Given the description of an element on the screen output the (x, y) to click on. 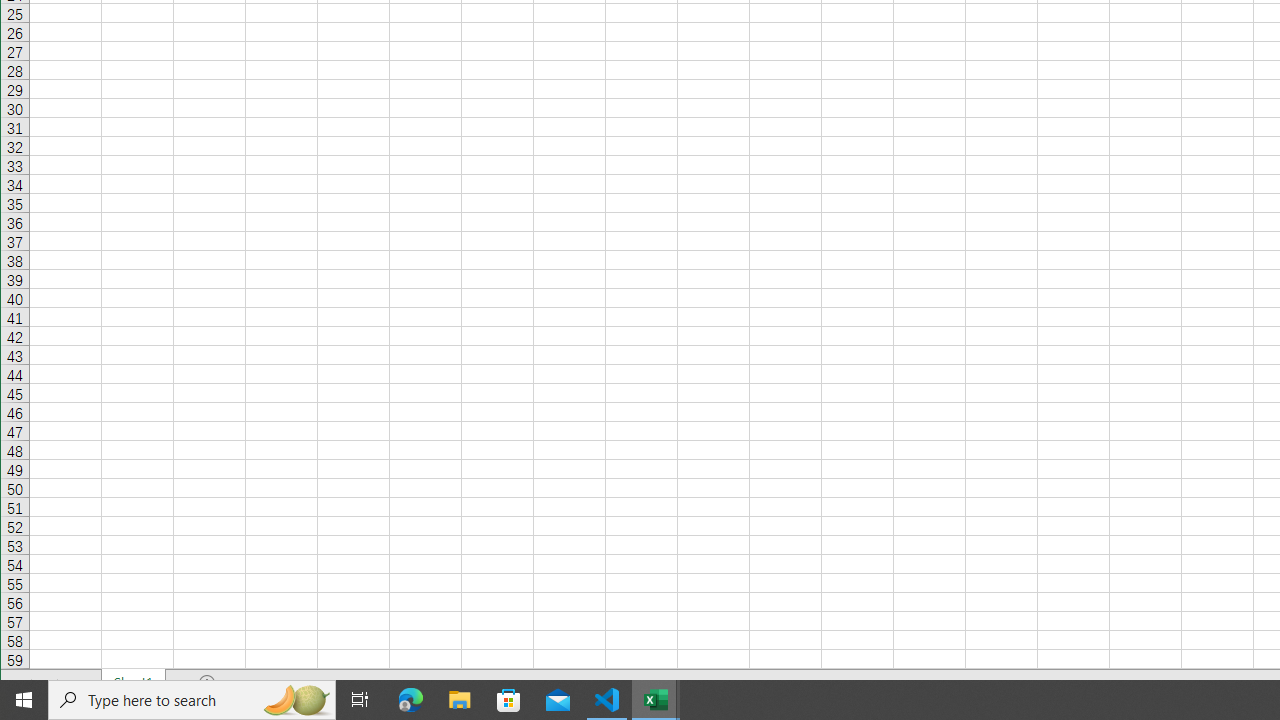
Scroll Left (30, 682)
Accessibility Checker Accessibility: Good to go (135, 708)
Add Sheet (207, 682)
Sheet1 (133, 682)
Scroll Right (58, 682)
